Given the description of an element on the screen output the (x, y) to click on. 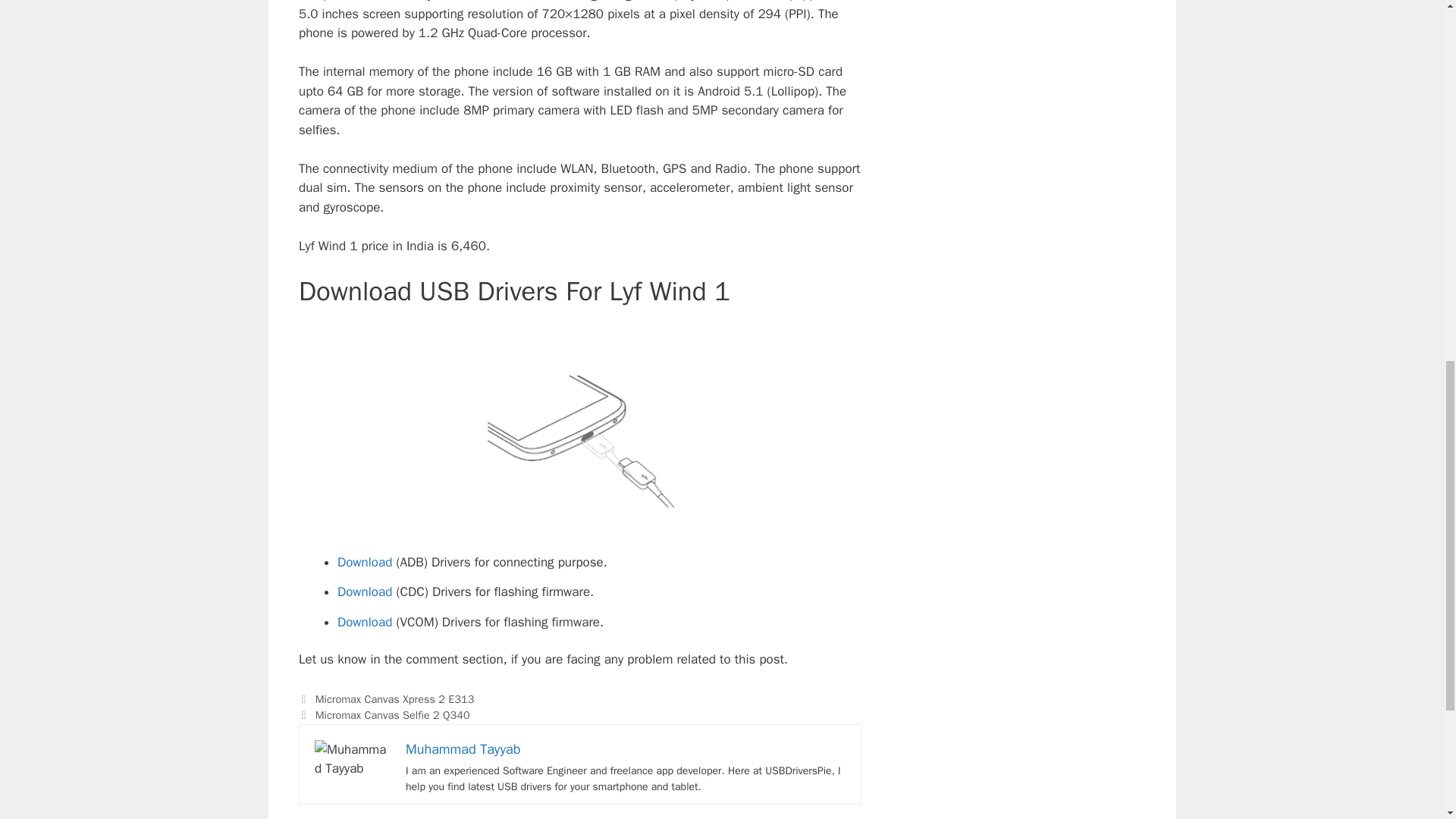
Download (364, 621)
Download (364, 562)
Muhammad Tayyab (462, 749)
Download (364, 591)
Micromax Canvas Selfie 2 Q340 (392, 714)
Micromax Canvas Xpress 2 E313 (394, 698)
